Given the description of an element on the screen output the (x, y) to click on. 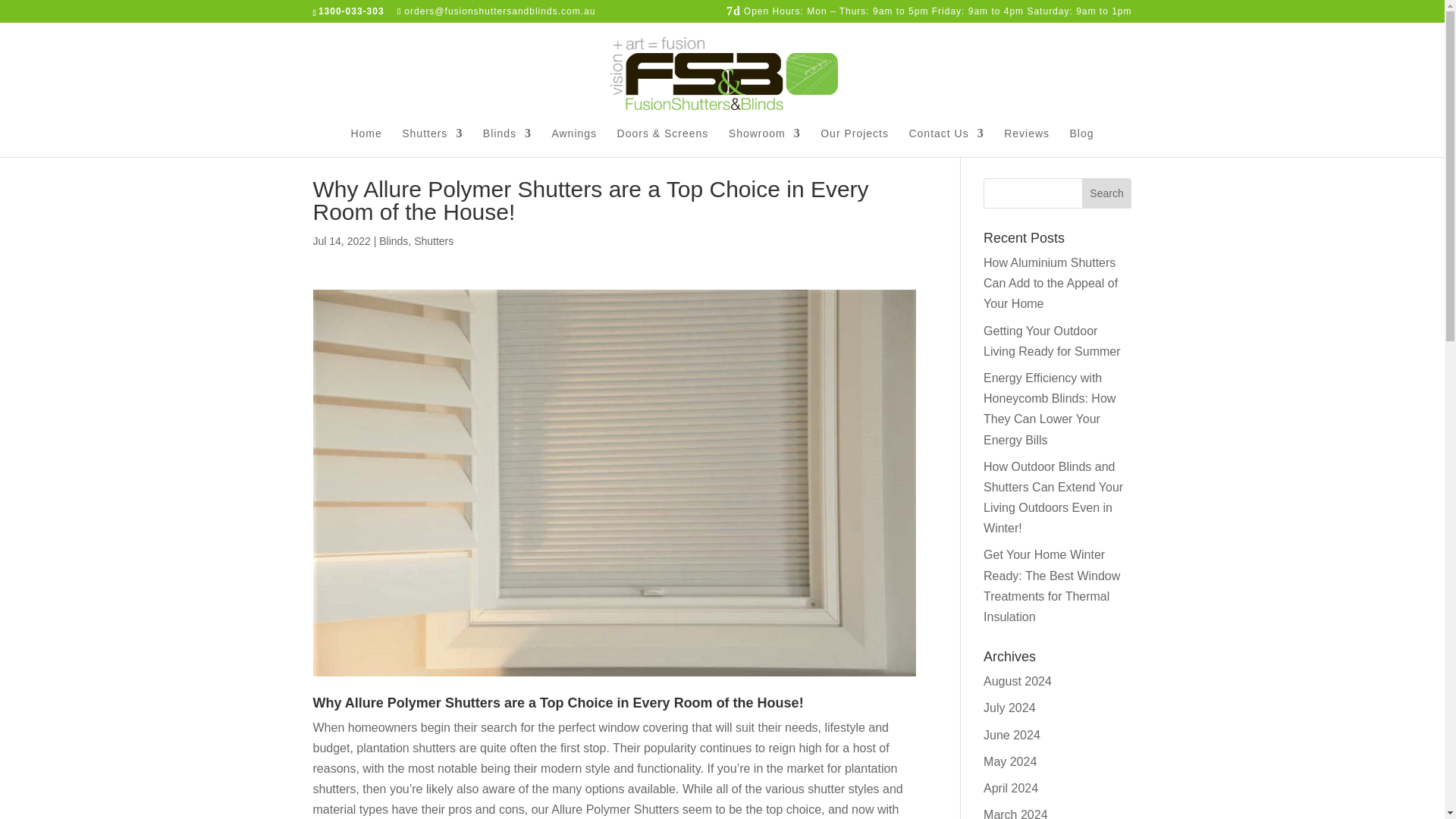
Blinds (392, 241)
Our Projects (854, 142)
Reviews (1026, 142)
Showroom (764, 142)
Contact Us (946, 142)
Search (1106, 193)
Getting Your Outdoor Living Ready for Summer (1052, 340)
Shutters (432, 142)
Awnings (573, 142)
